Given the description of an element on the screen output the (x, y) to click on. 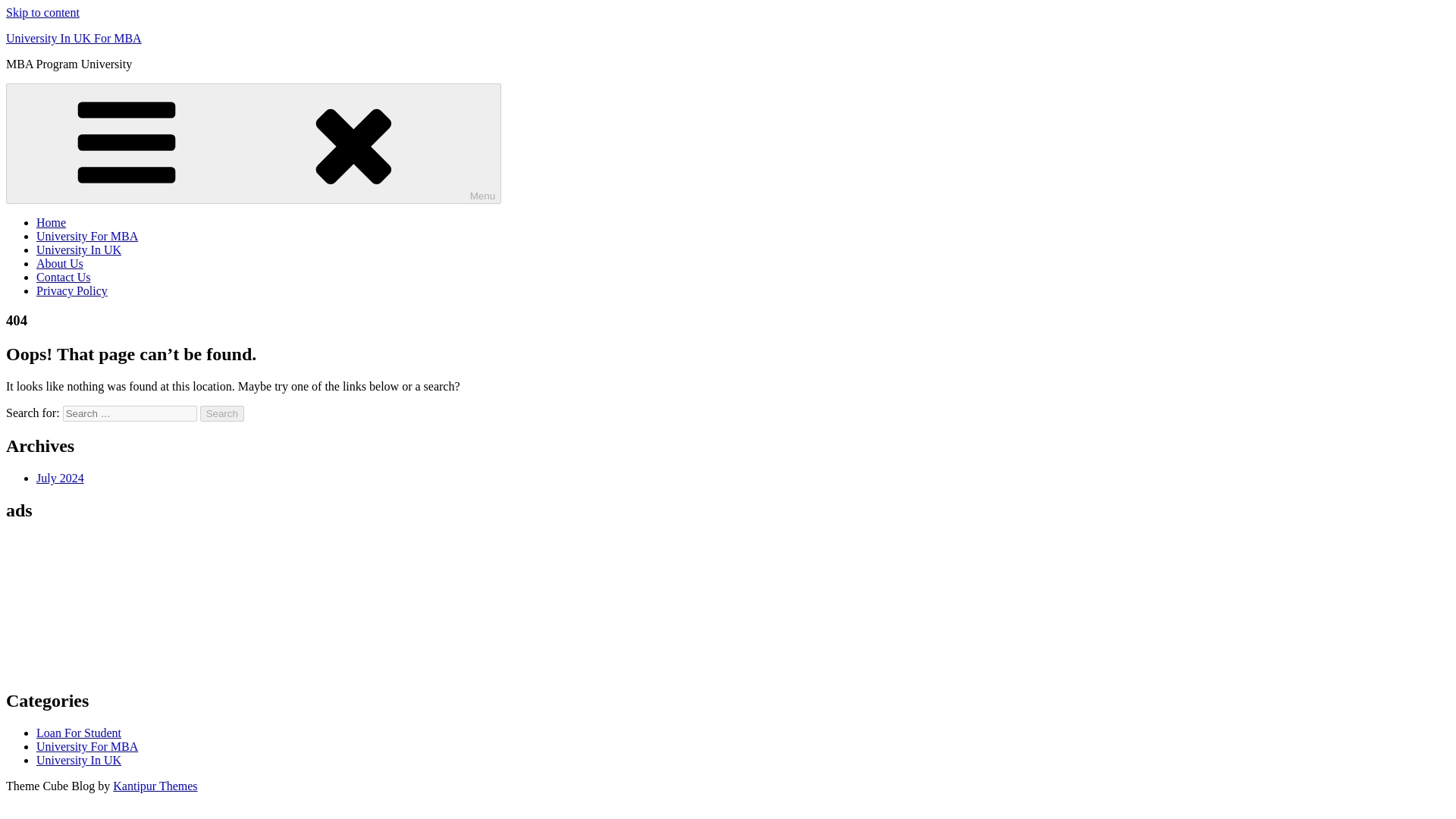
About Us (59, 263)
University In UK (78, 249)
Search (222, 413)
Loan For Student (78, 732)
Search (222, 413)
University In UK For MBA (73, 38)
July 2024 (60, 477)
Search (222, 413)
Menu (252, 143)
University For MBA (87, 746)
